Given the description of an element on the screen output the (x, y) to click on. 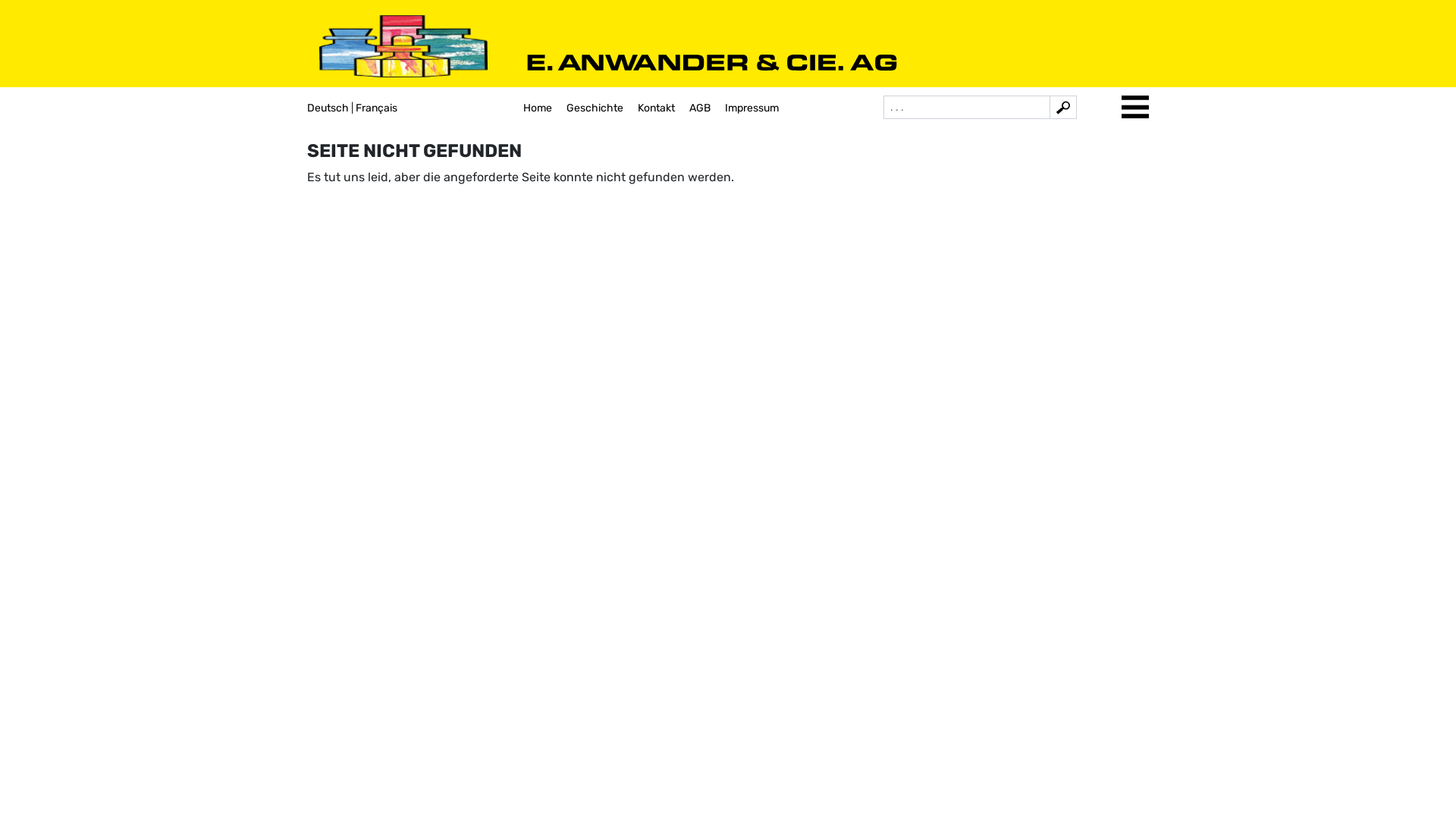
Home Element type: text (537, 107)
Deutsch Element type: text (327, 107)
Geschichte Element type: text (594, 107)
AGB Element type: text (699, 107)
Impressum Element type: text (751, 107)
Kontakt Element type: text (655, 107)
